Given the description of an element on the screen output the (x, y) to click on. 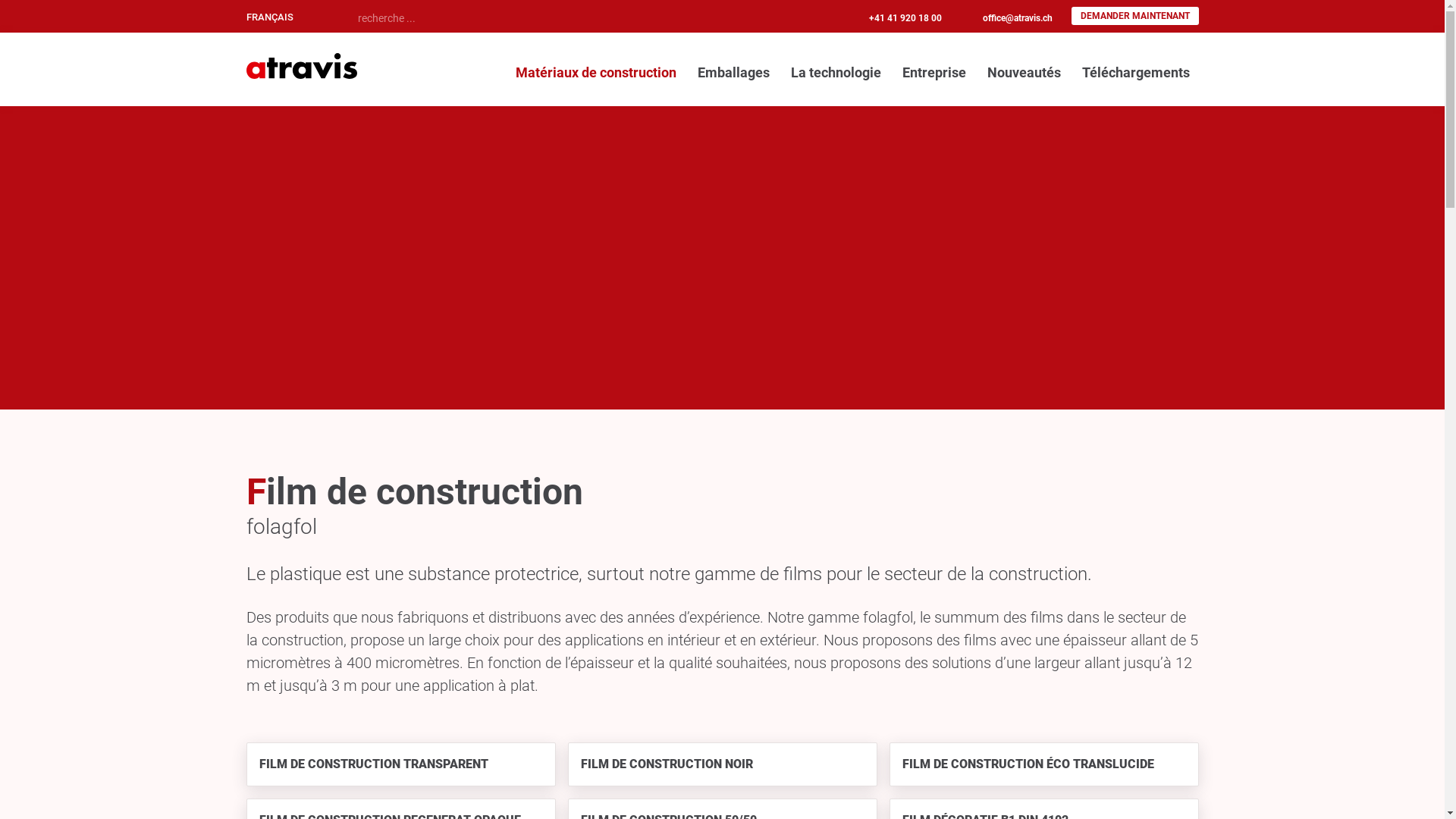
La technologie Element type: text (835, 72)
+41 41 920 18 00 Element type: text (905, 17)
DEMANDER MAINTENANT Element type: text (1134, 15)
FILM DE CONSTRUCTION NOIR Element type: text (721, 764)
FILM DE CONSTRUCTION TRANSPARENT Element type: text (400, 764)
Emballages Element type: text (733, 72)
office@atravis.ch Element type: text (1017, 17)
Entreprise Element type: text (934, 72)
